Given the description of an element on the screen output the (x, y) to click on. 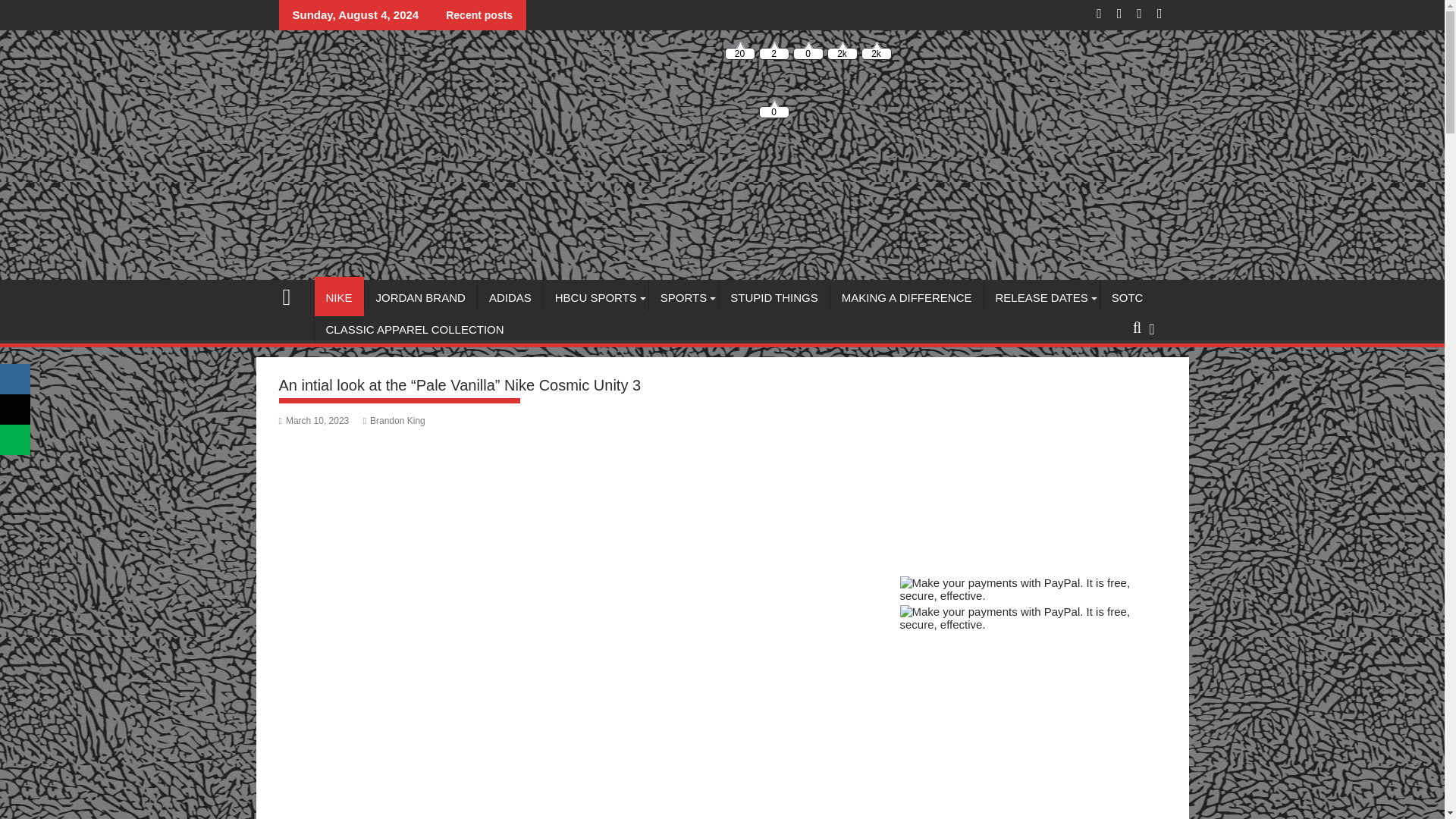
JORDAN BRAND (421, 298)
HBCU SPORTS (595, 298)
RELEASE DATES (1041, 298)
NIKE (338, 298)
Sneaker Shop Talk (293, 295)
MAKING A DIFFERENCE (906, 298)
STUPID THINGS (774, 298)
SPORTS (683, 298)
ADIDAS (510, 298)
